Given the description of an element on the screen output the (x, y) to click on. 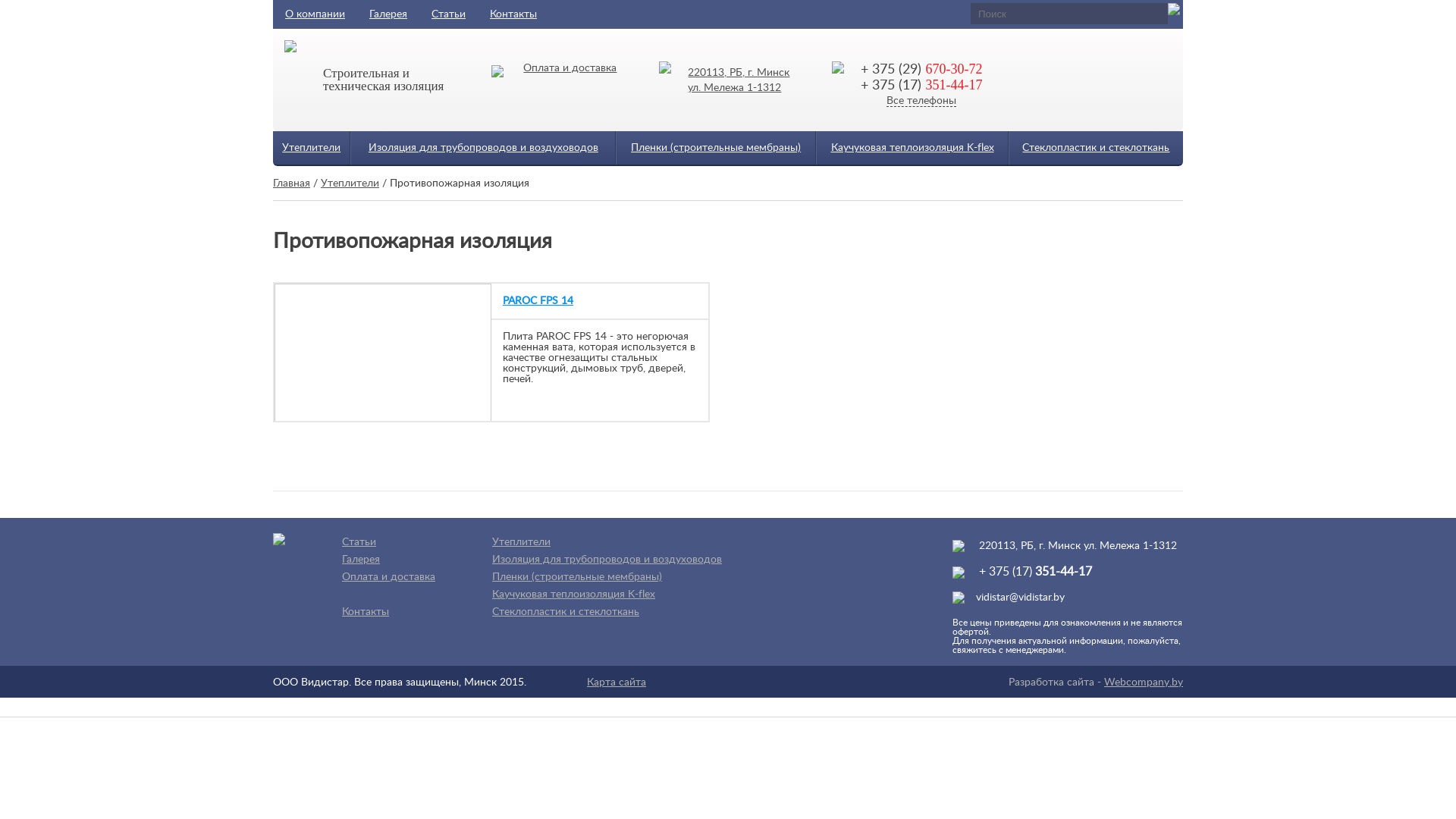
PAROC FPS 14 Element type: text (599, 300)
Webcompany.by Element type: text (1143, 682)
